Given the description of an element on the screen output the (x, y) to click on. 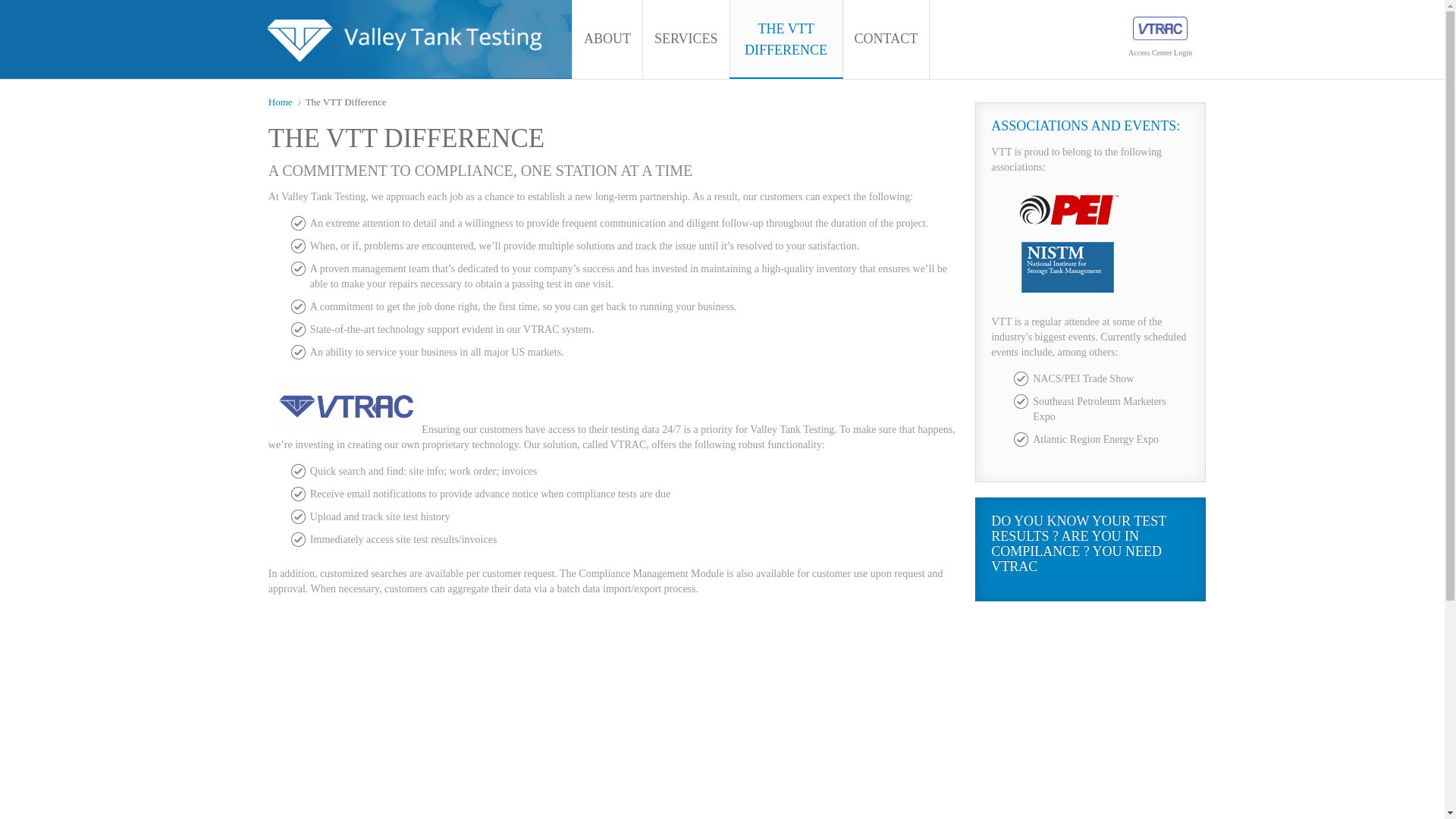
ABOUT (607, 39)
SERVICES (686, 39)
Home (284, 102)
Access Center Login (1160, 38)
CONTACT (886, 39)
THE VTT DIFFERENCE (786, 39)
